Given the description of an element on the screen output the (x, y) to click on. 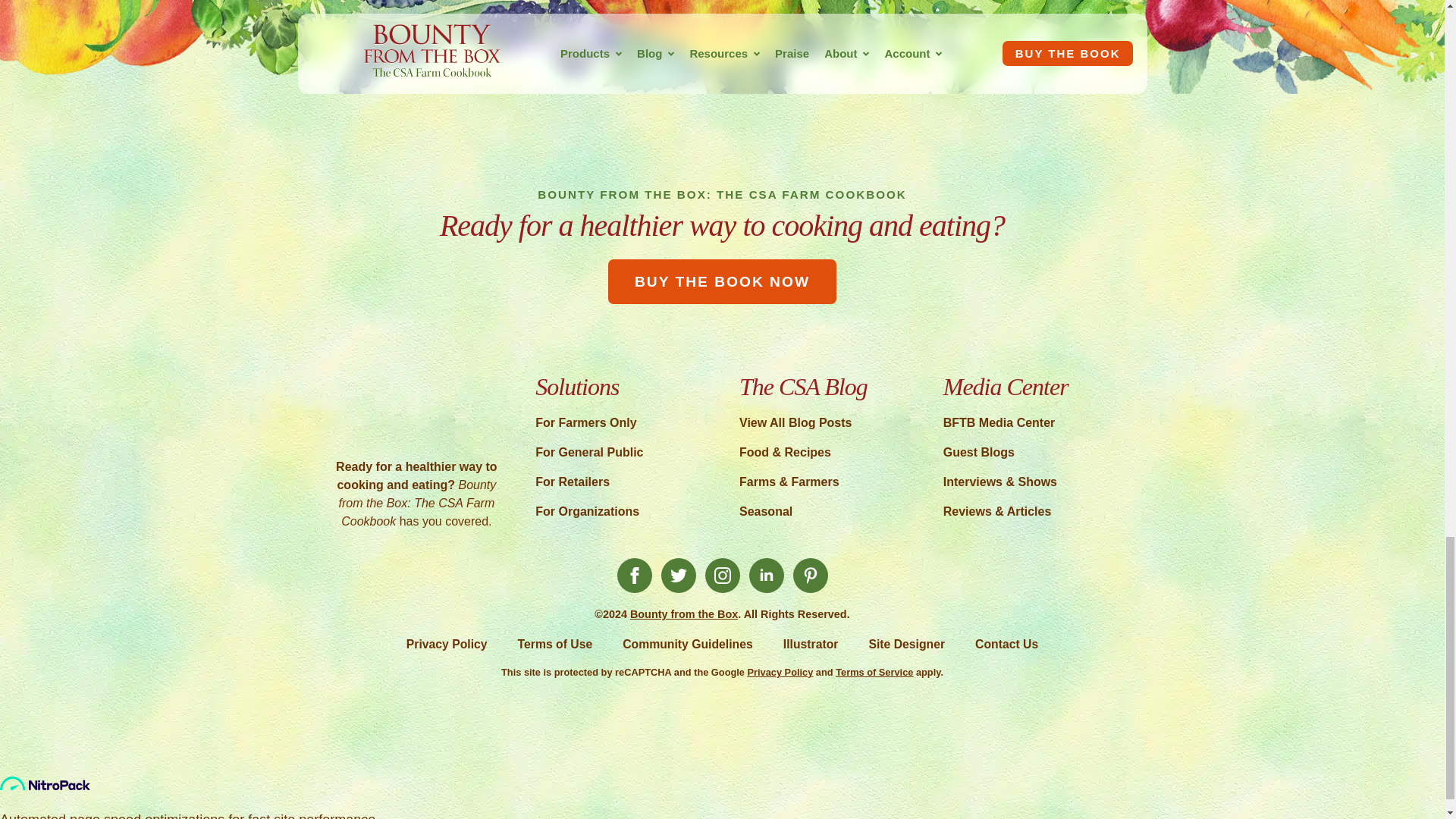
Post Comment (409, 23)
